Given the description of an element on the screen output the (x, y) to click on. 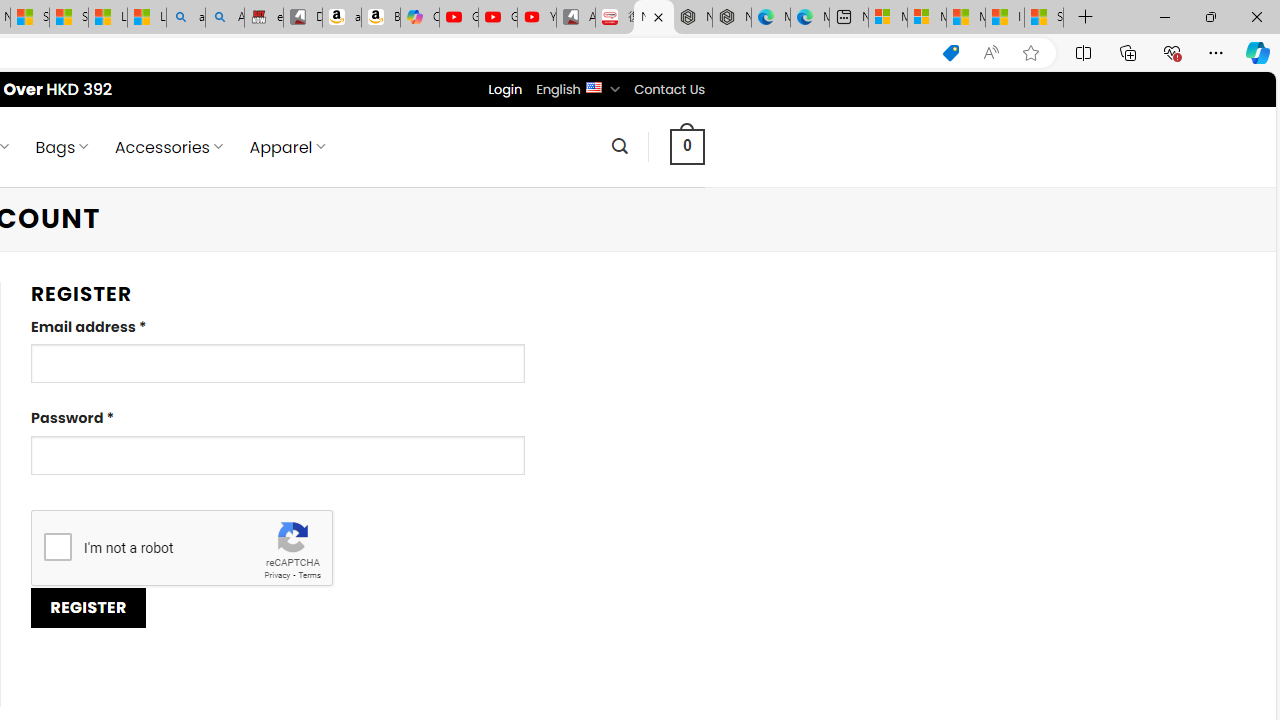
YouTube Kids - An App Created for Kids to Explore Content (536, 17)
Nordace - My Account (653, 17)
Copilot (419, 17)
I'm not a robot (57, 546)
